Given the description of an element on the screen output the (x, y) to click on. 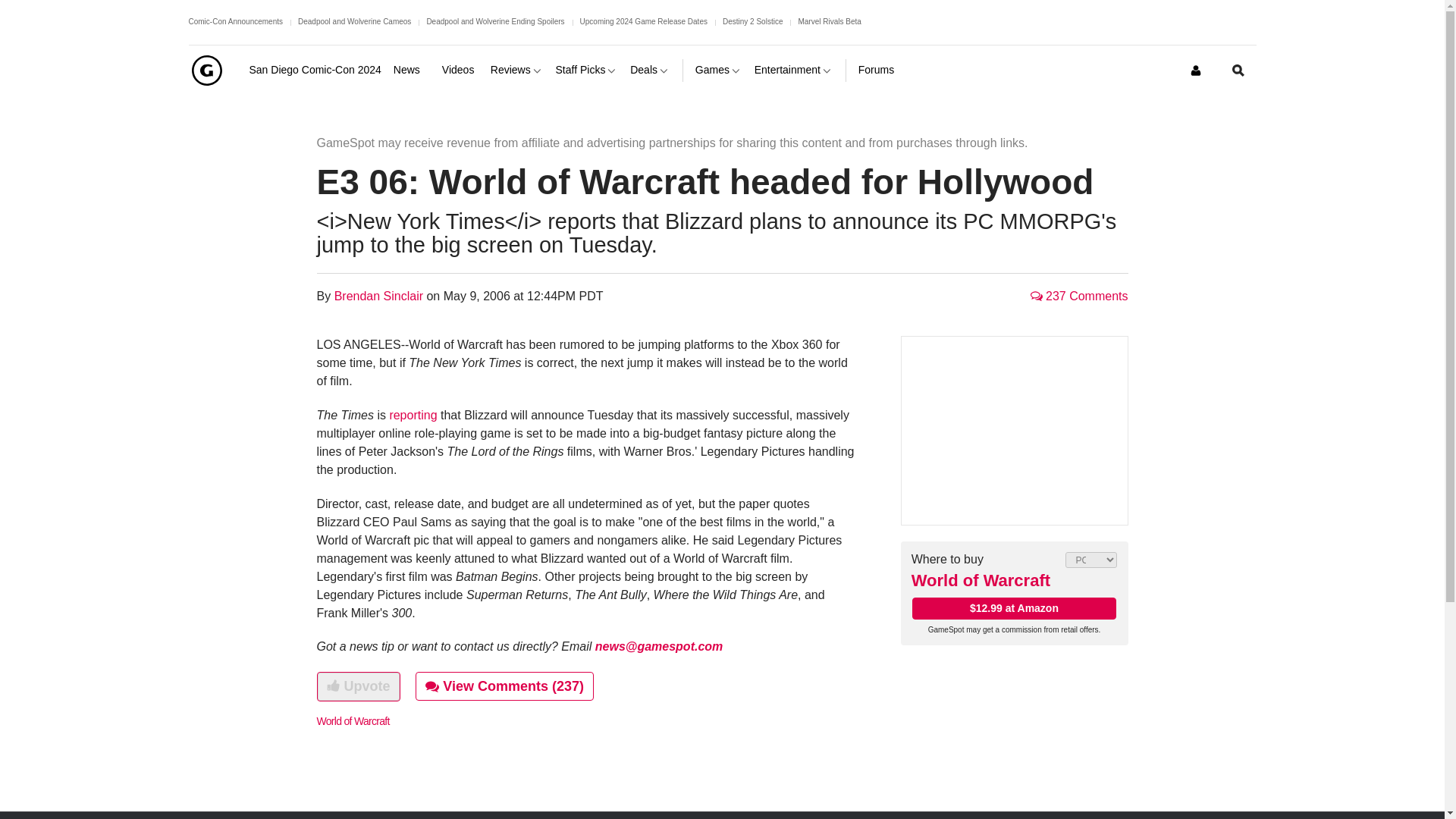
Destiny 2 Solstice (752, 21)
News (411, 70)
Deals (649, 70)
Staff Picks (587, 70)
Comic-Con Announcements (234, 21)
Videos (460, 70)
Games (718, 70)
Reviews (516, 70)
Deadpool and Wolverine Cameos (354, 21)
San Diego Comic-Con 2024 (314, 70)
Marvel Rivals Beta (828, 21)
Upcoming 2024 Game Release Dates (643, 21)
GameSpot (205, 70)
Deadpool and Wolverine Ending Spoilers (495, 21)
